Given the description of an element on the screen output the (x, y) to click on. 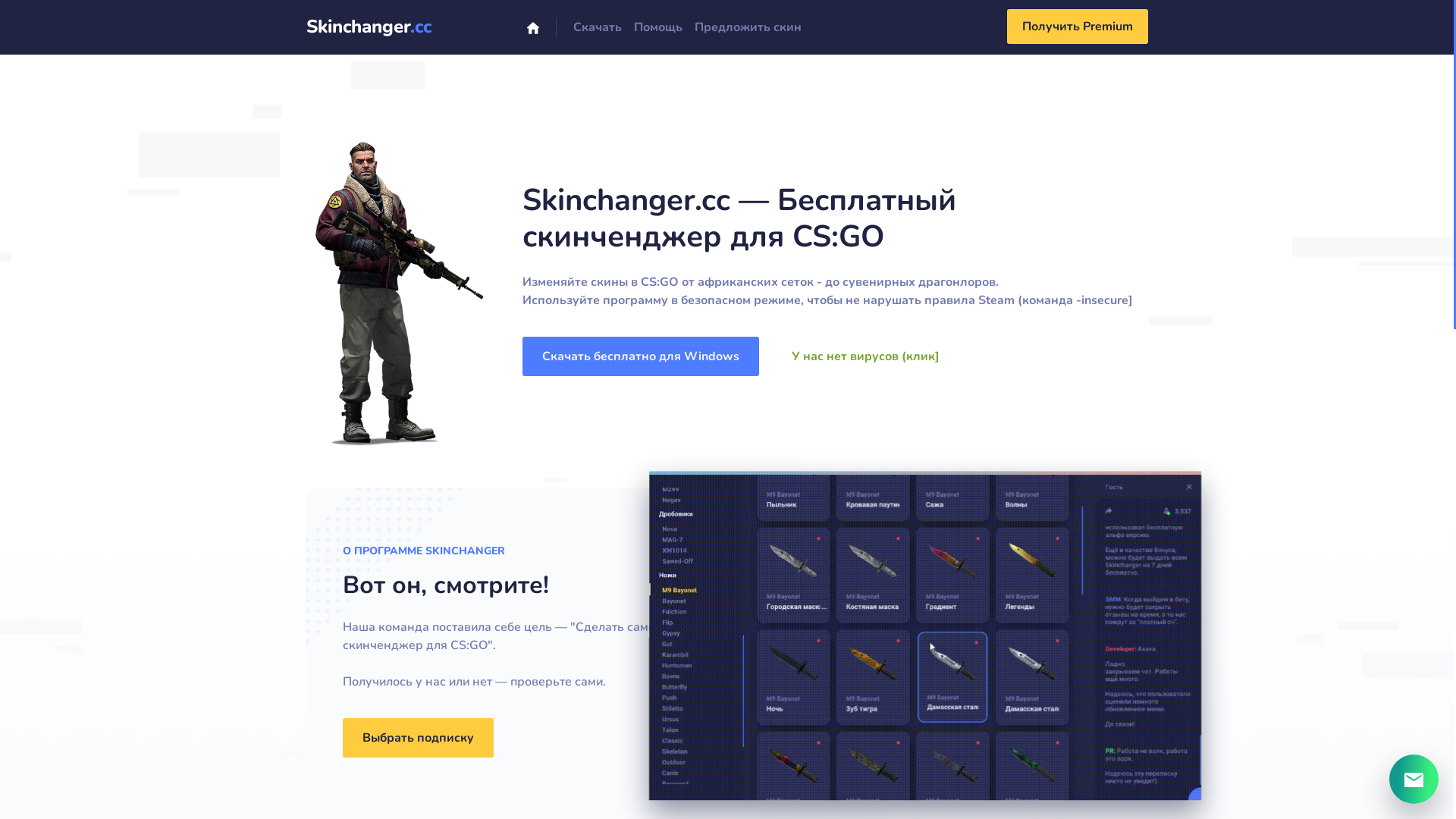
Skinchanger.cc Element type: text (368, 26)
. Element type: text (555, 27)
